Given the description of an element on the screen output the (x, y) to click on. 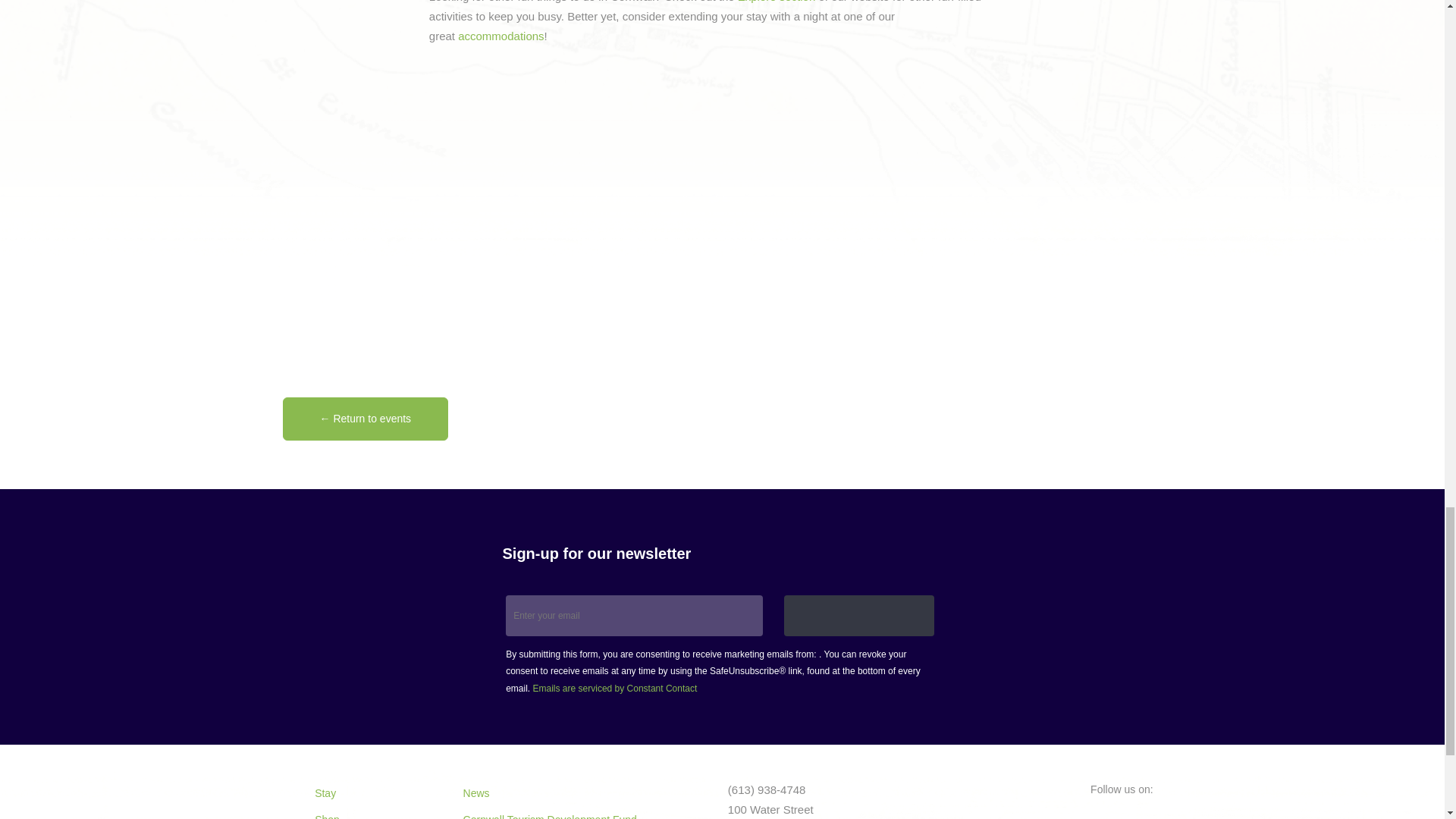
Sign up (859, 615)
